Given the description of an element on the screen output the (x, y) to click on. 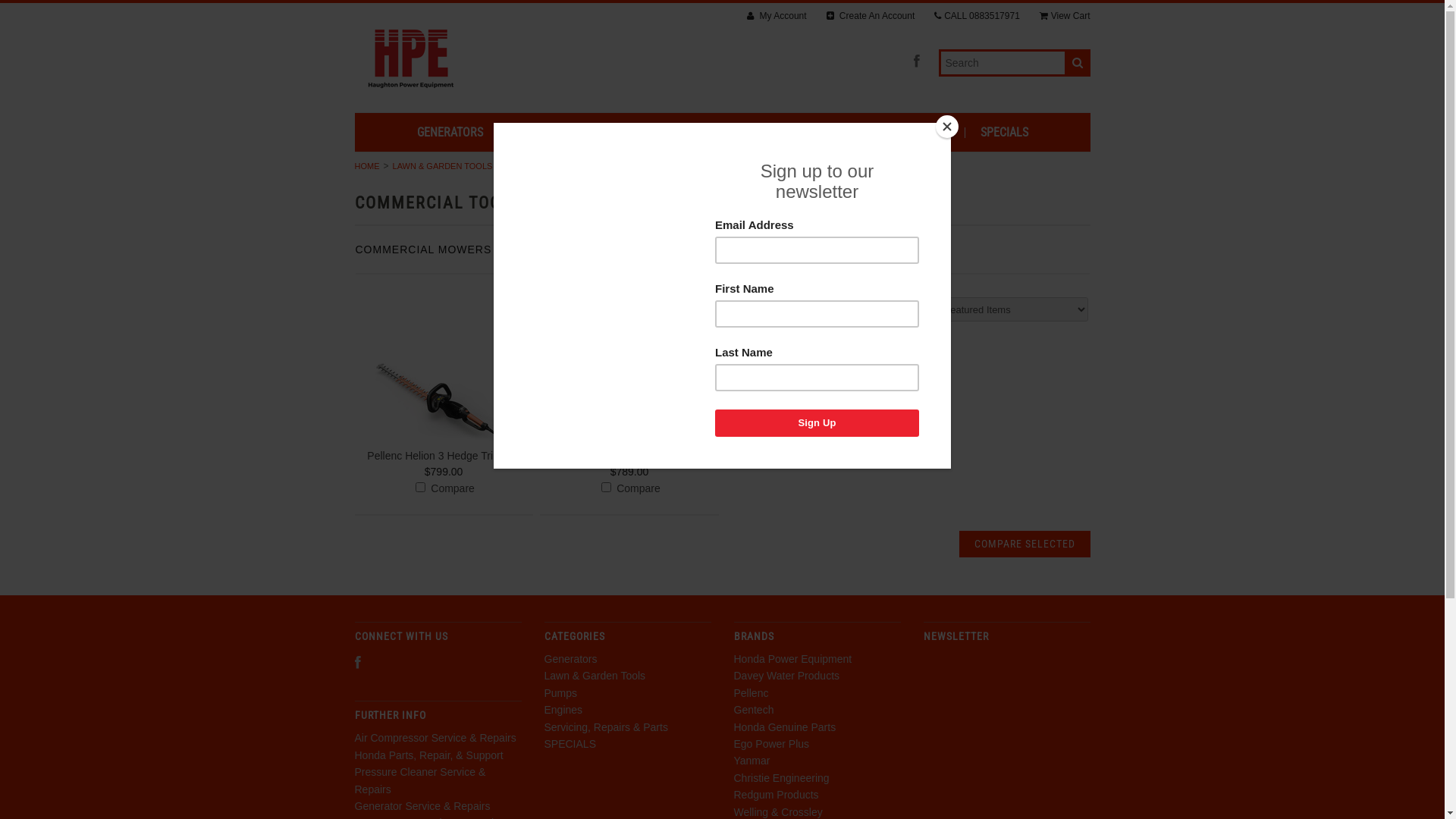
Servicing, Repairs & Parts Element type: text (606, 727)
Honda Parts, Repair, & Support Element type: text (428, 755)
Air Compressor Service & Repairs Element type: text (435, 737)
Create An Account Element type: text (870, 16)
Generators Element type: text (570, 658)
Honda Genuine Parts Element type: text (785, 727)
Pellenc Helion 2 Hedge Trimmer Element type: text (629, 455)
Honda Power Equipment Element type: text (793, 658)
PUMPS Element type: text (682, 132)
ENGINES Element type: text (752, 132)
Davey Water Products Element type: text (787, 675)
Pressure Cleaner Service & Repairs Element type: text (420, 779)
LAWN & GARDEN TOOLS Element type: text (573, 132)
LAWN & GARDEN TOOLS Element type: text (440, 165)
View Cart Element type: text (1064, 16)
My Account Element type: text (776, 16)
HOME Element type: text (366, 165)
Yanmar Element type: text (752, 760)
773 Element type: text (606, 487)
SERVICING, REPAIRS & PARTS Element type: text (877, 132)
Christie Engineering Element type: text (781, 777)
Ego Power Plus Element type: text (771, 743)
Facebook Element type: hover (916, 61)
Generator Service & Repairs Element type: text (422, 806)
Pellenc Helion 3 Hedge Trimmer Element type: text (443, 455)
GENERATORS Element type: text (449, 132)
Pellenc Element type: text (751, 693)
SPECIALS Element type: text (570, 743)
CALL 0883517971 Element type: text (976, 16)
COMMERCIAL MOWERS Element type: text (422, 249)
Redgum Products Element type: text (776, 794)
Lawn & Garden Tools Element type: text (595, 675)
Welling & Crossley Element type: text (778, 812)
SPECIALS Element type: text (1003, 132)
904 Element type: text (420, 487)
Compare Selected Element type: text (1023, 543)
Engines Element type: text (563, 709)
Gentech Element type: text (754, 709)
Facebook Element type: hover (357, 663)
Pumps Element type: text (560, 693)
